Given the description of an element on the screen output the (x, y) to click on. 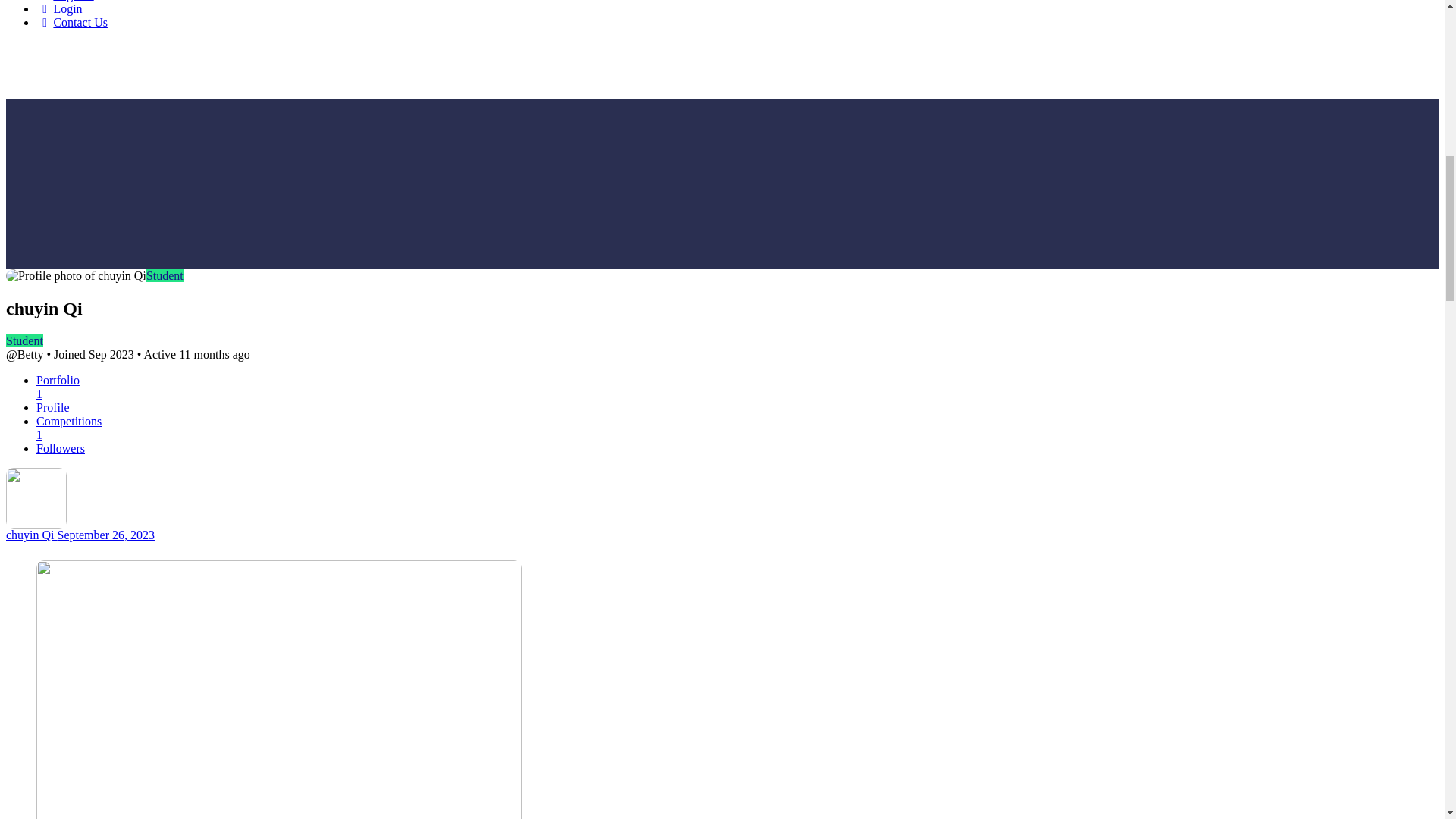
September 26, 2023 (106, 534)
Contact Us (71, 21)
chuyin Qi (31, 534)
Register (65, 0)
Login (59, 8)
